Given the description of an element on the screen output the (x, y) to click on. 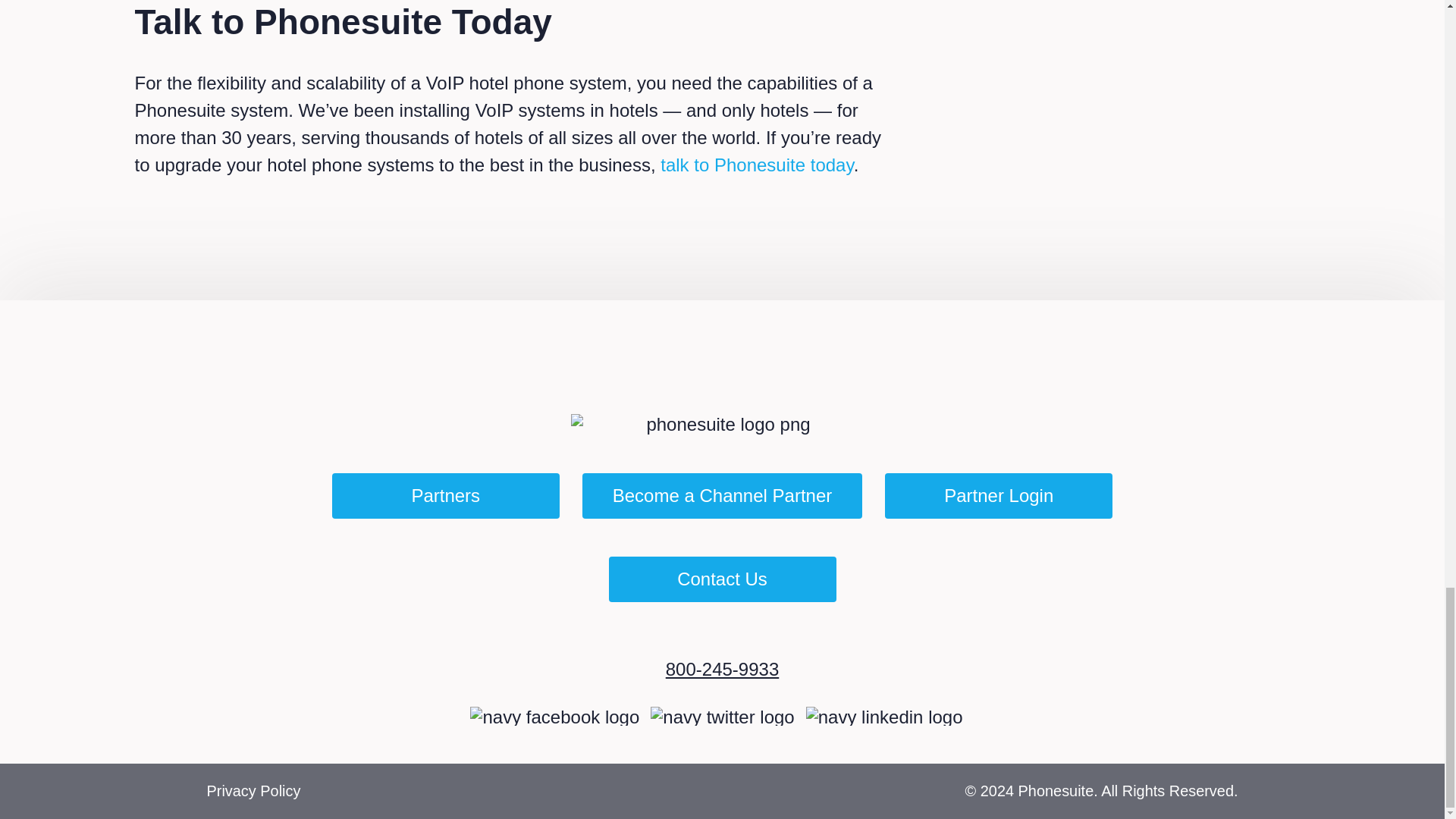
talk to Phonesuite today (757, 164)
Privacy Policy (252, 790)
Partner Login (997, 495)
800-245-9933 (721, 669)
Partners (445, 495)
Contact Us (721, 578)
Become a Channel Partner (722, 495)
